Given the description of an element on the screen output the (x, y) to click on. 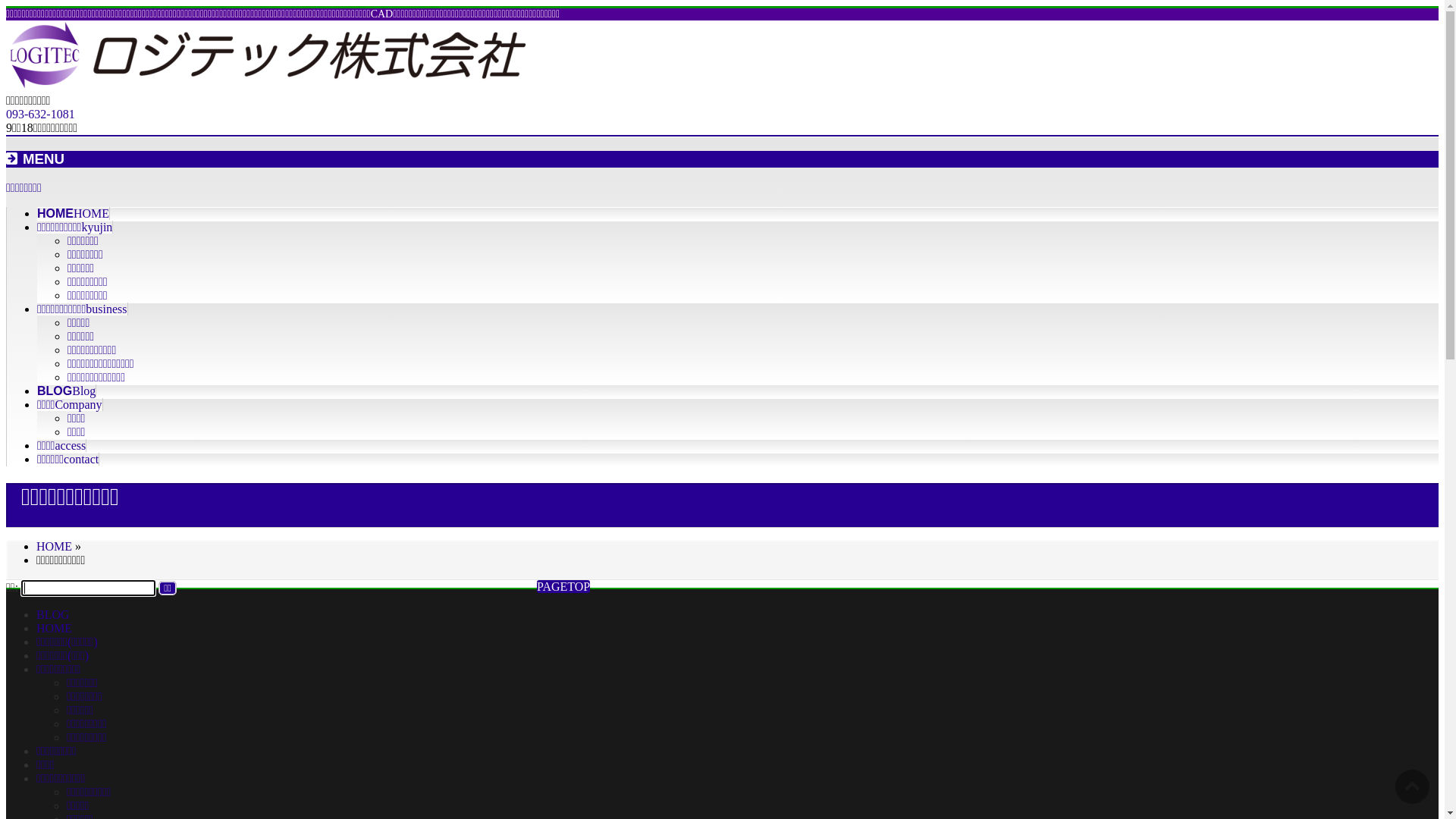
HOME Element type: text (54, 545)
PAGETOP Element type: text (562, 586)
MENU Element type: text (722, 158)
BLOG Element type: text (52, 614)
HOMEHOME Element type: text (73, 213)
BLOGBlog Element type: text (66, 390)
HOME Element type: text (54, 627)
